Given the description of an element on the screen output the (x, y) to click on. 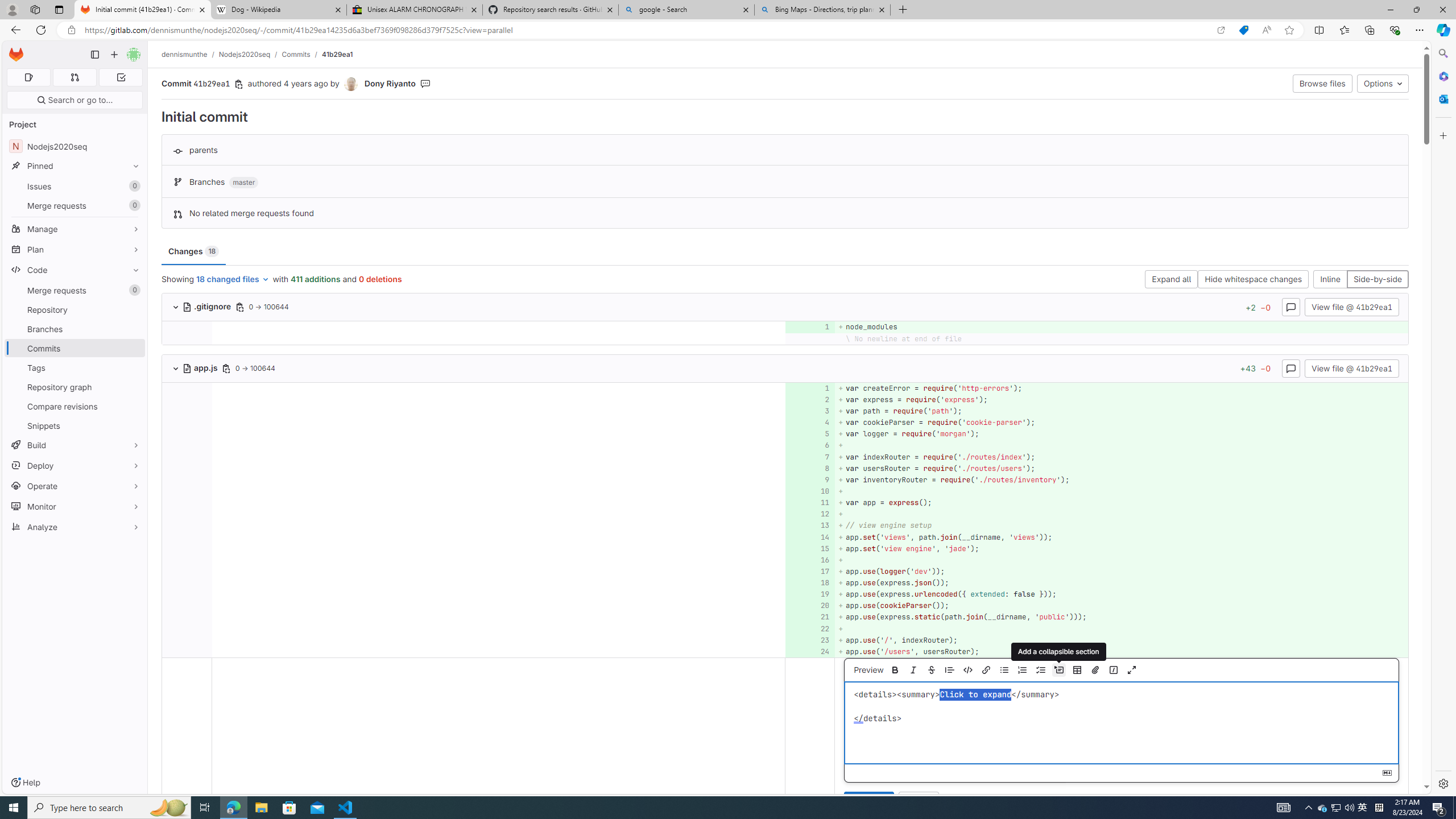
Add a bullet list (1004, 670)
Add a comment to this line 22 (809, 628)
Expand all (1171, 279)
.gitignore  (207, 306)
+ app.use('/', indexRouter);  (1120, 639)
Add a comment to this line 12 (809, 514)
+ var usersRouter = require('./routes/users');  (1120, 468)
Class: s16 (187, 368)
Insert code (967, 670)
Skip to main content (13, 49)
Add a comment to this line 10 (809, 490)
10 (808, 490)
dennismunthe/ (189, 53)
Add a comment to this line 24 (809, 651)
